Given the description of an element on the screen output the (x, y) to click on. 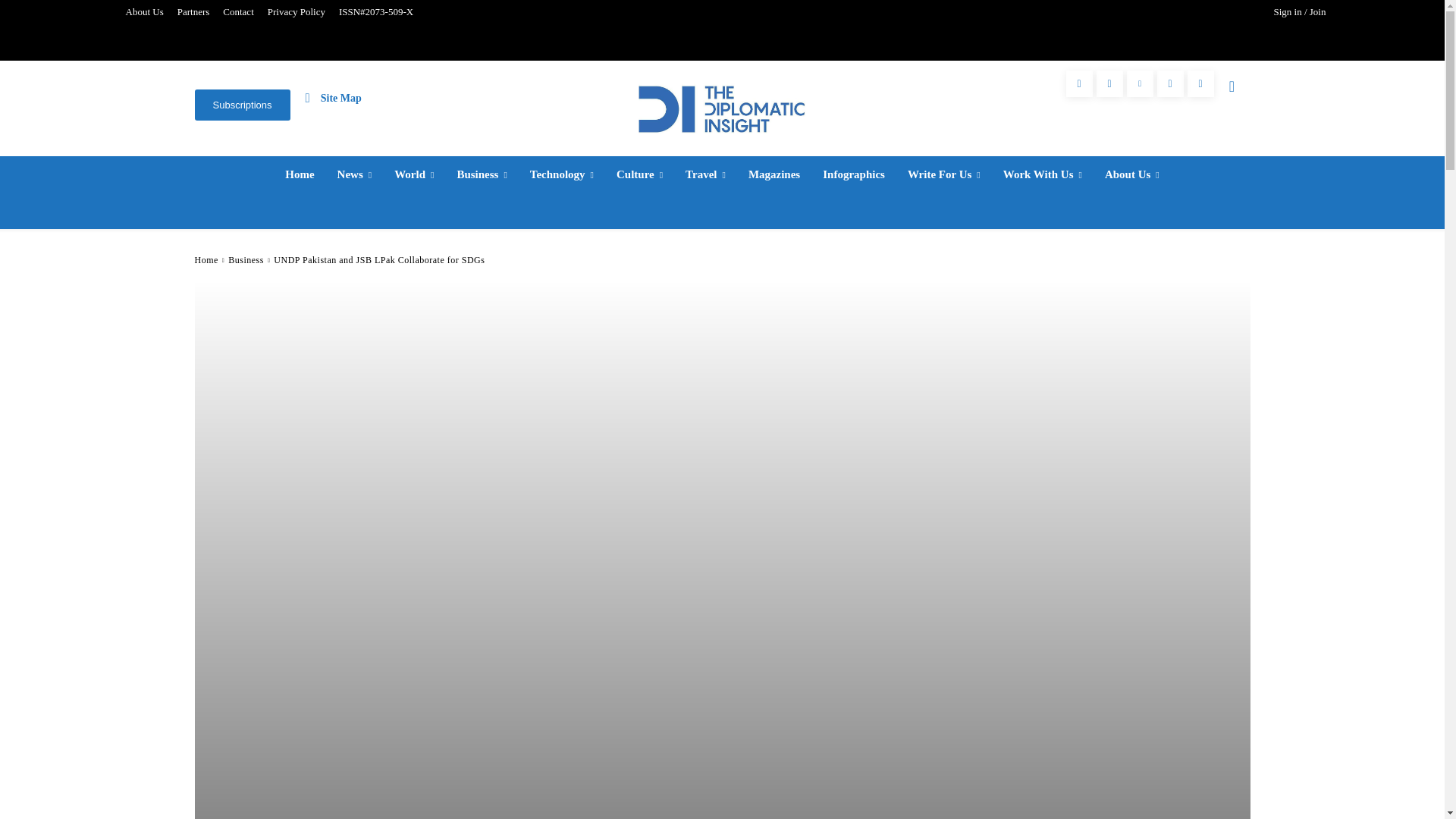
Subscriptions (241, 104)
Youtube (1201, 82)
Site Map (333, 97)
Linkedin (1139, 82)
Twitter (1170, 82)
Instagram (1109, 82)
Facebook (1079, 82)
View all posts in Business (245, 259)
